Given the description of an element on the screen output the (x, y) to click on. 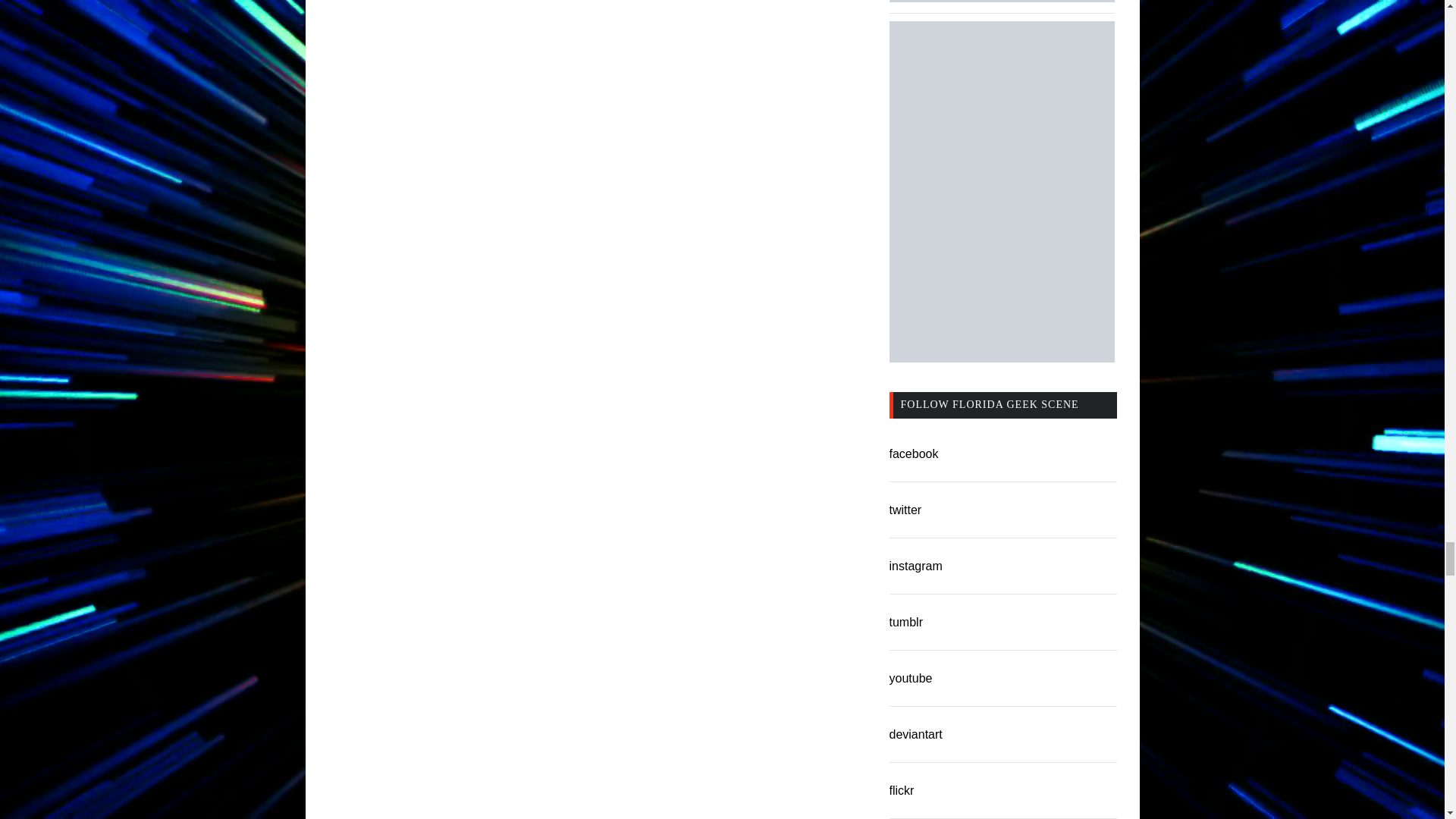
Facebook (912, 453)
flickr (901, 789)
tumblr (904, 621)
YouTube (909, 677)
deviantART (915, 734)
Instagram (915, 565)
